Given the description of an element on the screen output the (x, y) to click on. 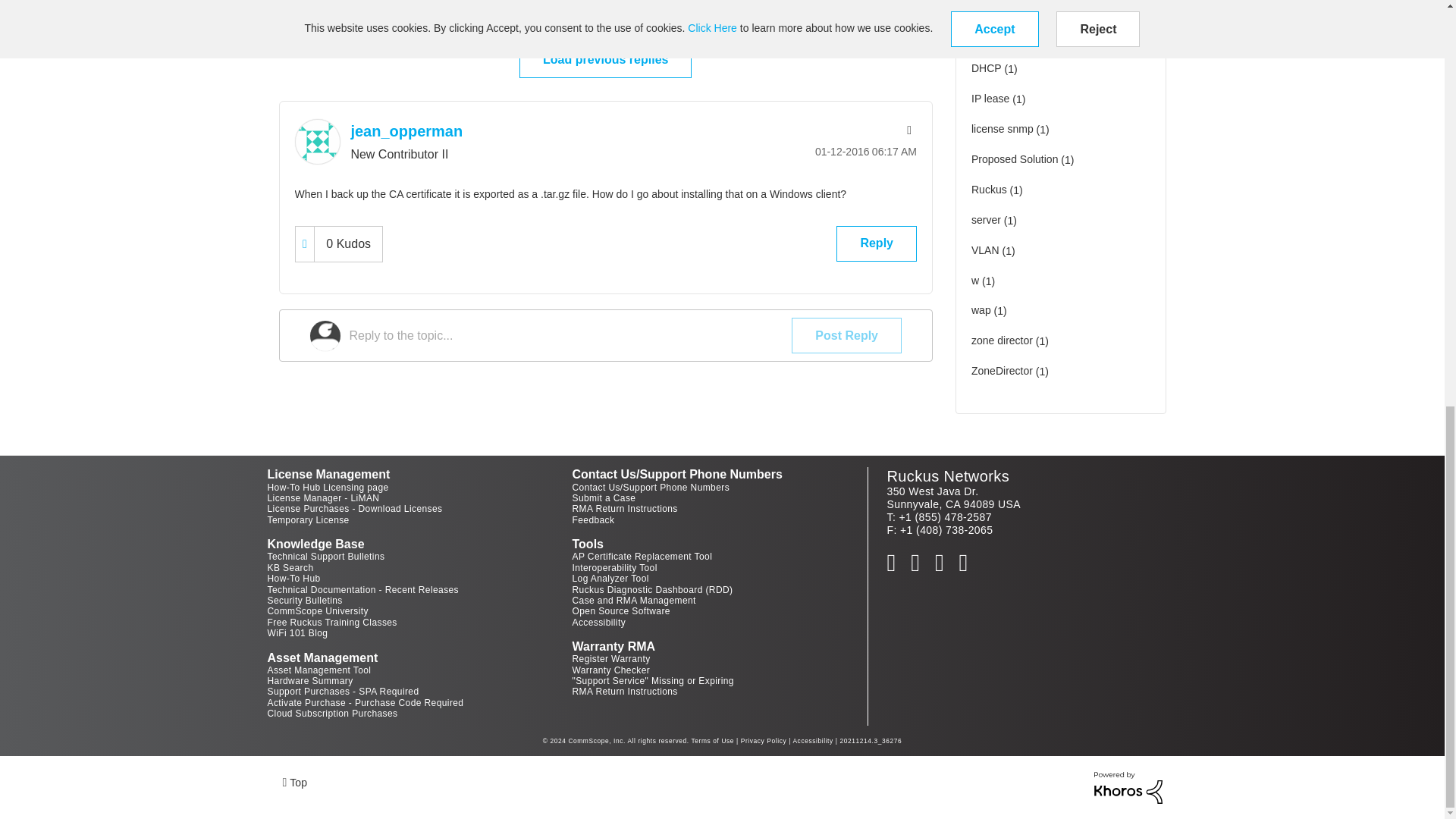
Click here to give kudos to this post. (305, 243)
The total number of kudos this post has received. (347, 243)
Top (293, 781)
Top (293, 781)
Show option menu (907, 129)
What is the latest firmware for the ZF2925? (804, 8)
ZoneDirector (710, 8)
